Given the description of an element on the screen output the (x, y) to click on. 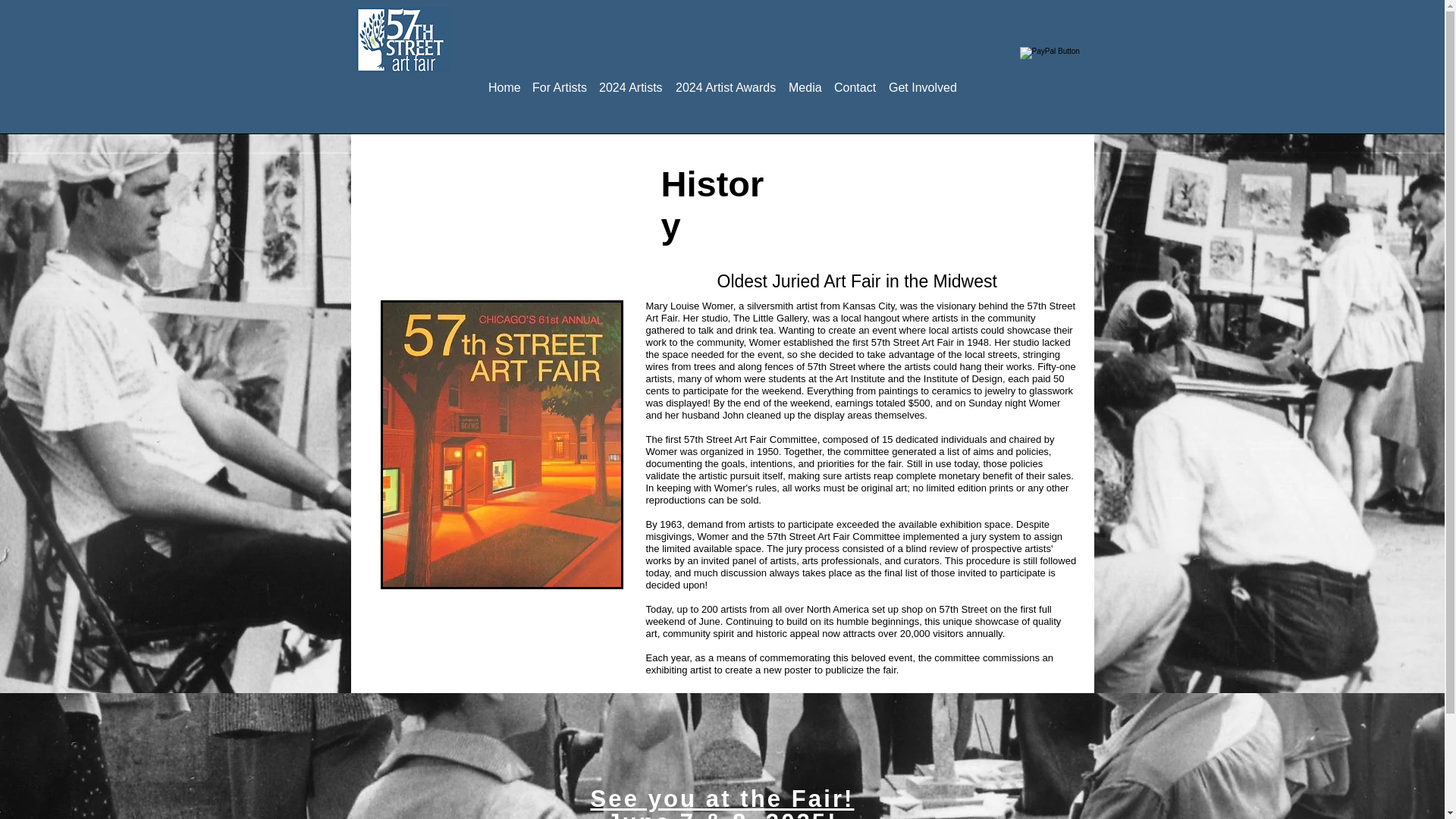
Contact (855, 80)
2024 Artists (630, 80)
For Artists (558, 80)
Home (503, 80)
2024 Artist Awards (726, 80)
Get Involved (922, 80)
Media (805, 80)
